Given the description of an element on the screen output the (x, y) to click on. 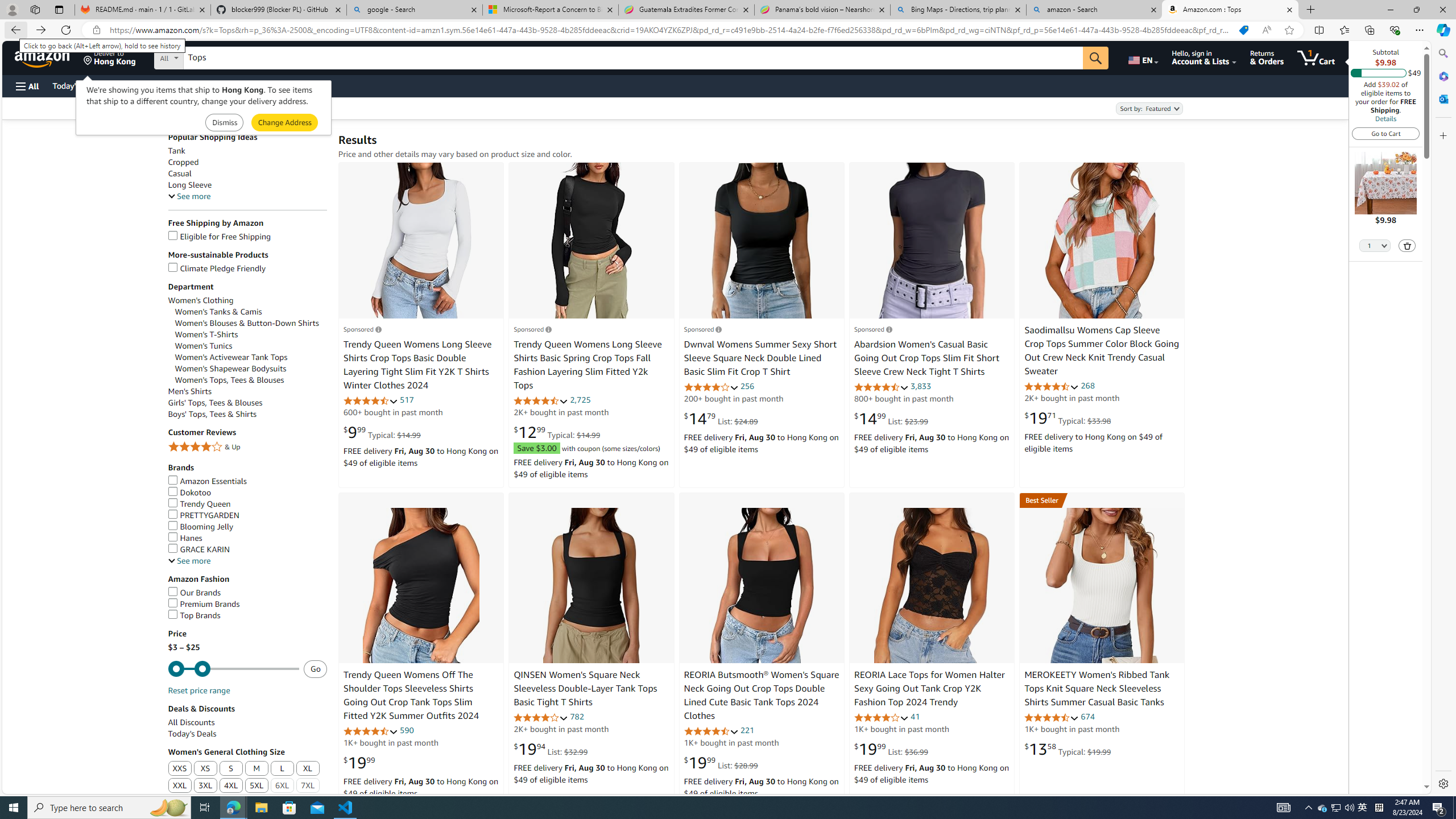
Girls' Tops, Tees & Blouses (247, 402)
Go - Submit price range (315, 668)
Go to Cart (1385, 133)
Climate Pledge Friendly (216, 268)
Choose a language for shopping. (1142, 57)
3,833 (920, 385)
Men's Shirts (189, 391)
Tank (175, 150)
5XL (256, 786)
Women's Tanks & Camis (218, 311)
$19.99 List: $28.99 (721, 762)
